Given the description of an element on the screen output the (x, y) to click on. 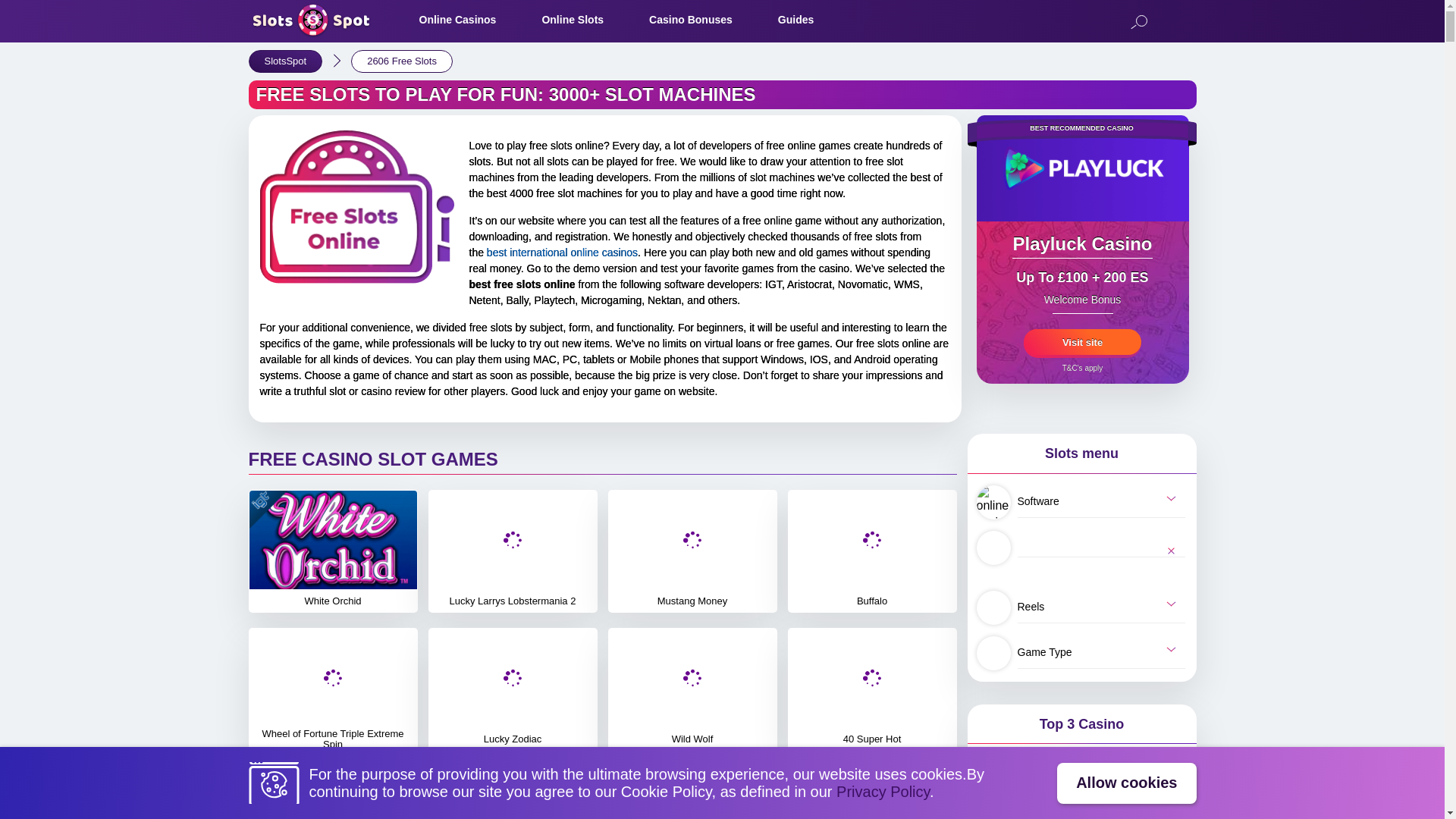
play 40 Super Hot slot machine (872, 689)
play Lucky Zodiac slot machine (512, 689)
Online Slots (572, 19)
play Wild Wolf slot machine (692, 689)
play Mustang Money slot machine (692, 550)
play Buffalo slot machine (872, 550)
play White Orchid slot machine (332, 550)
play Wild Dragon slot machine (872, 793)
Online Casinos (457, 19)
play Book Of Crazy Chicken slot machine (512, 793)
